Given the description of an element on the screen output the (x, y) to click on. 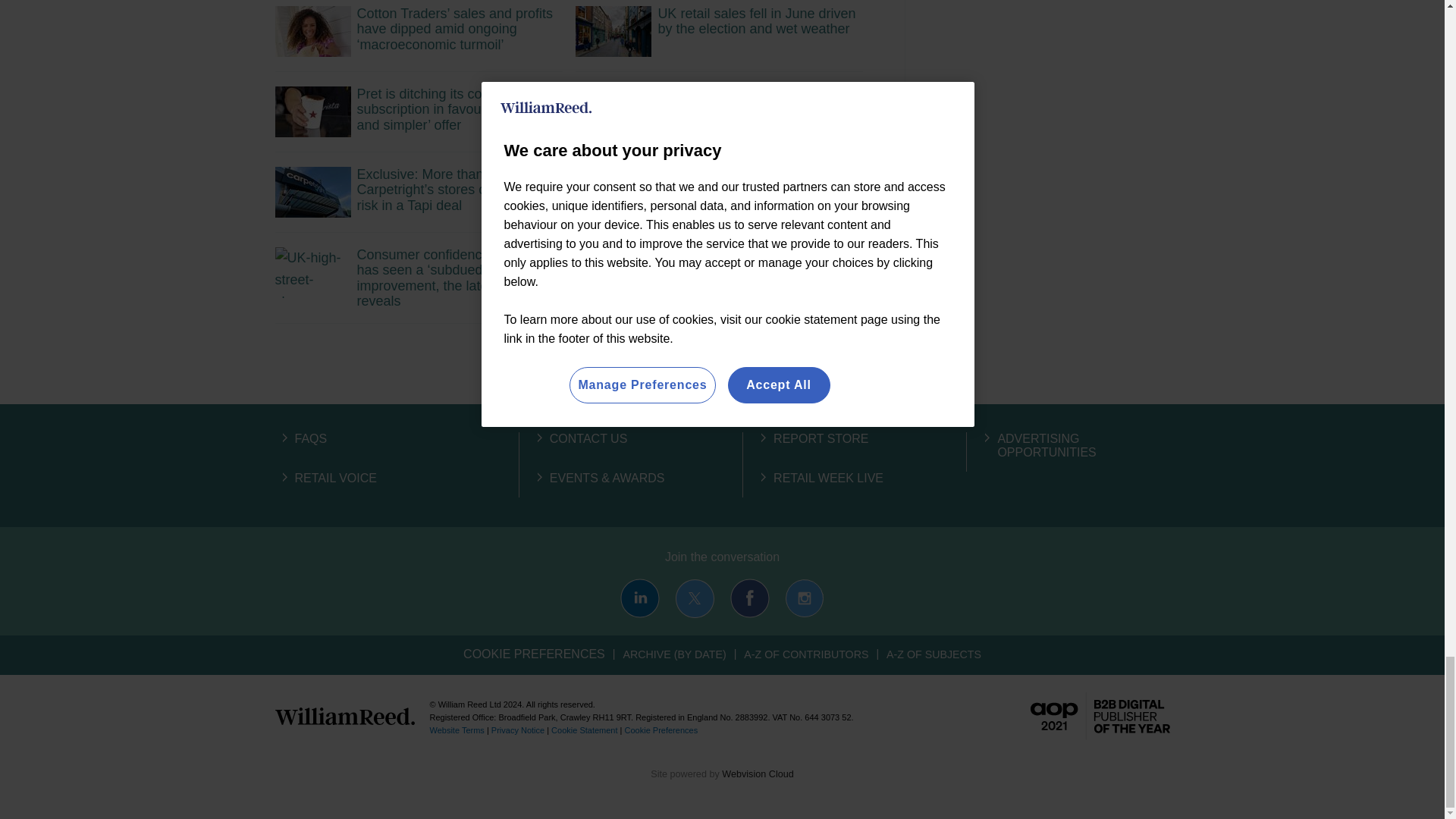
Connect with us on Facebook (750, 598)
Connect with us on Instagram (804, 598)
Connect with us on LinkedIn (639, 598)
Connect with us on X (694, 598)
